Given the description of an element on the screen output the (x, y) to click on. 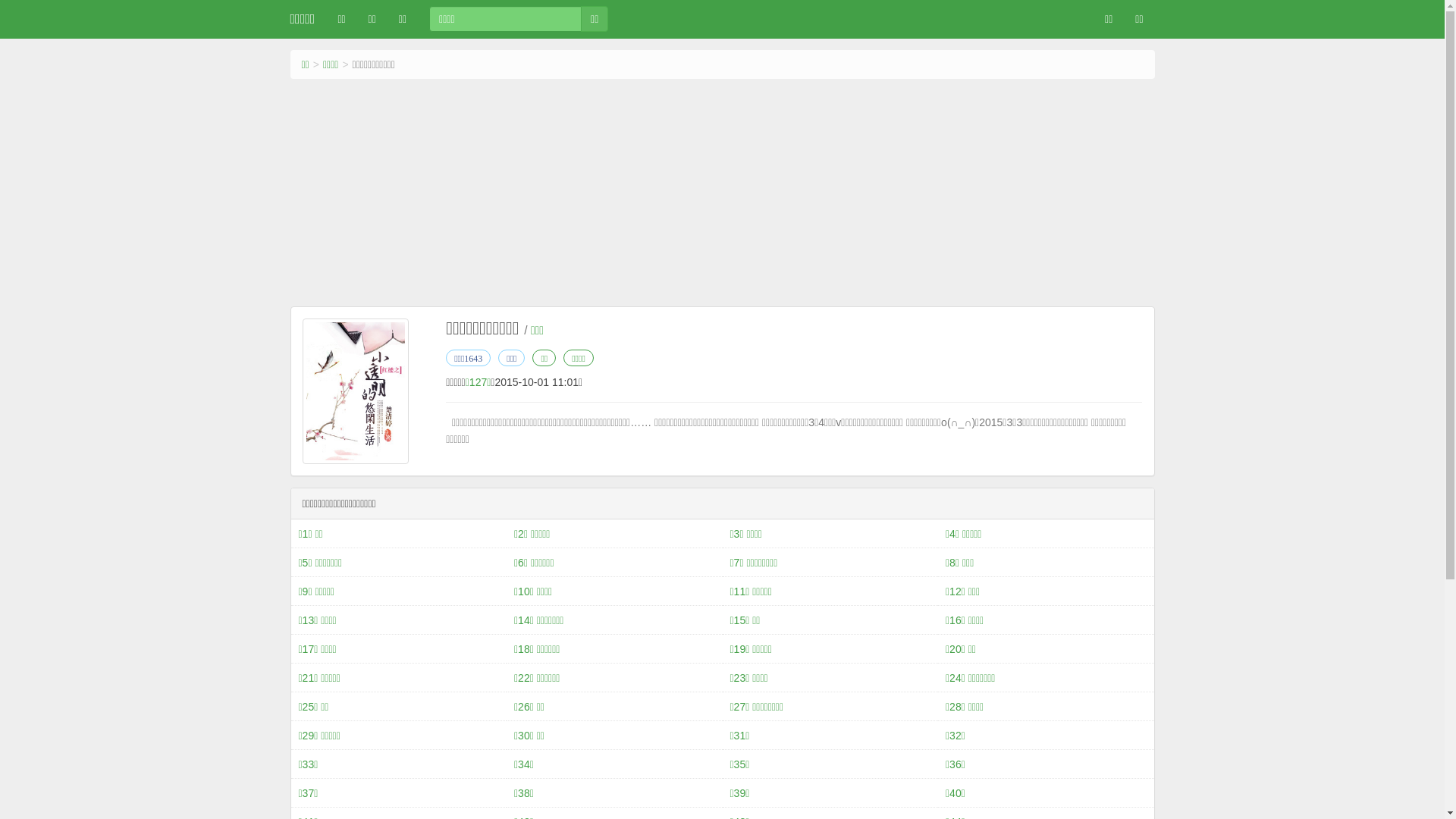
Advertisement Element type: hover (721, 192)
